Given the description of an element on the screen output the (x, y) to click on. 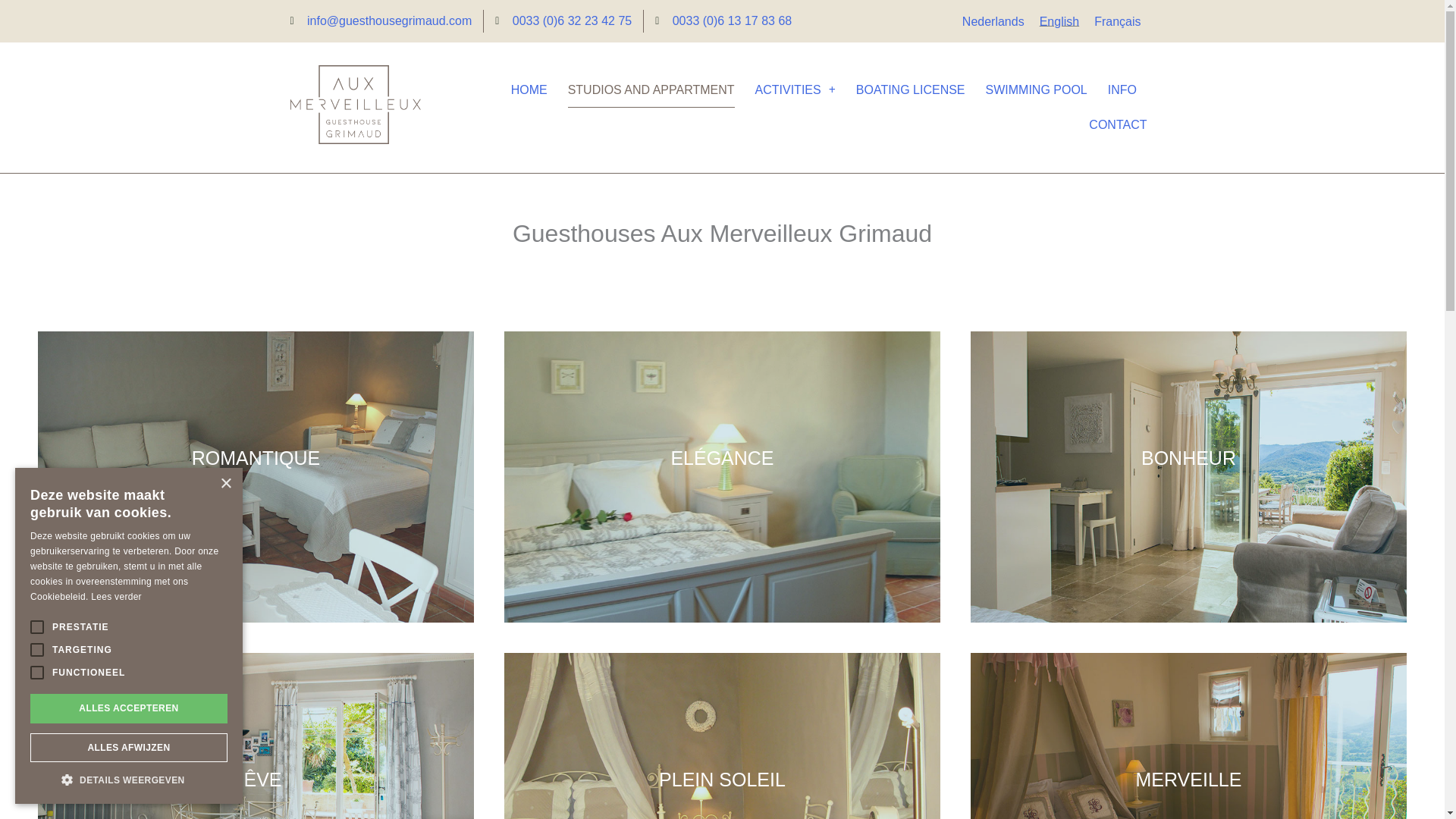
SWIMMING POOL (1036, 89)
ACTIVITIES (795, 89)
HOME (529, 89)
STUDIOS AND APPARTMENT (651, 89)
BOATING LICENSE (910, 89)
English (1059, 21)
CONTACT (1118, 124)
Nederlands (993, 21)
